Given the description of an element on the screen output the (x, y) to click on. 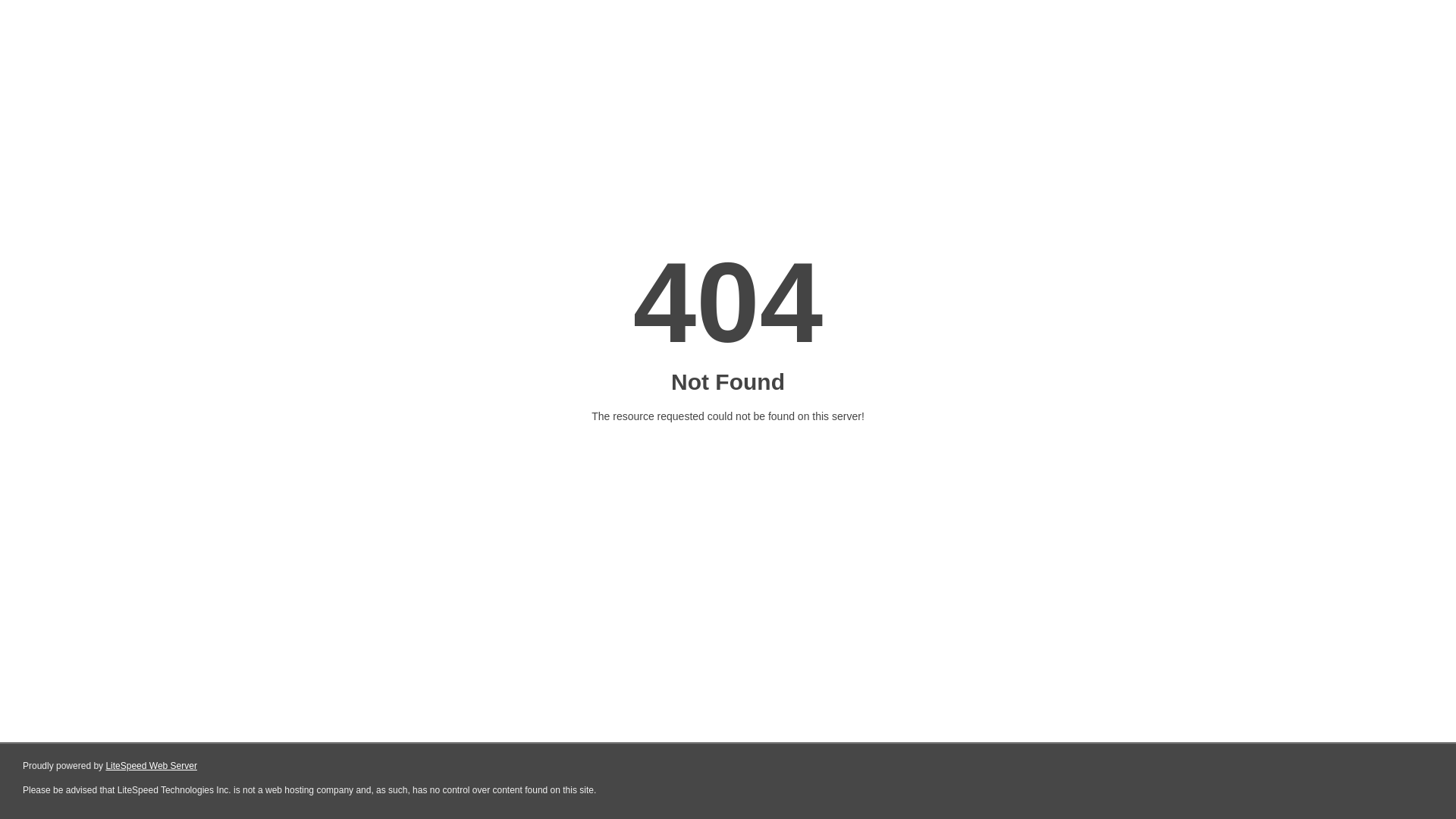
LiteSpeed Web Server Element type: text (151, 765)
